Given the description of an element on the screen output the (x, y) to click on. 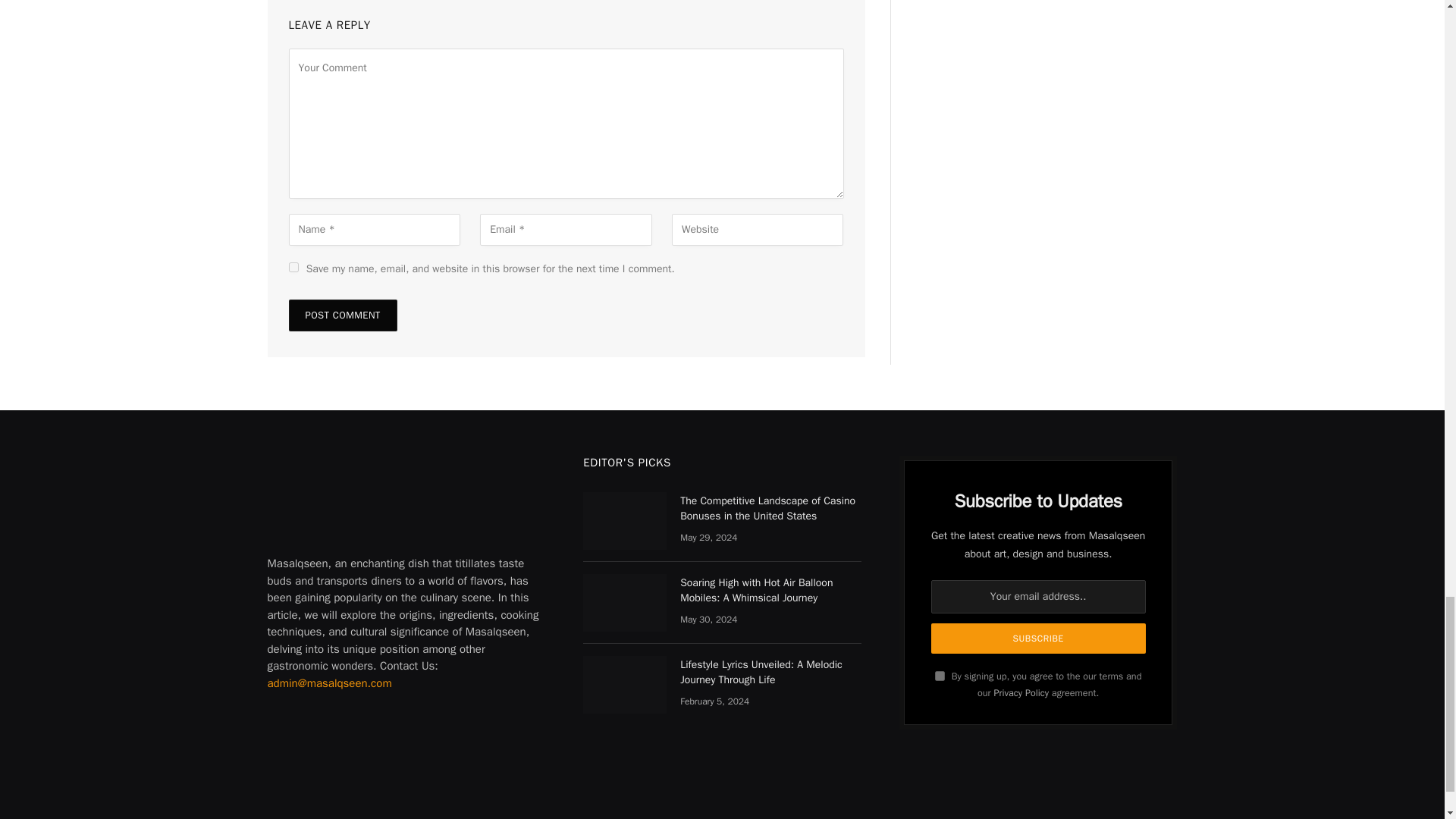
yes (293, 266)
Post Comment (342, 315)
on (939, 675)
Subscribe (1038, 638)
Post Comment (342, 315)
